Given the description of an element on the screen output the (x, y) to click on. 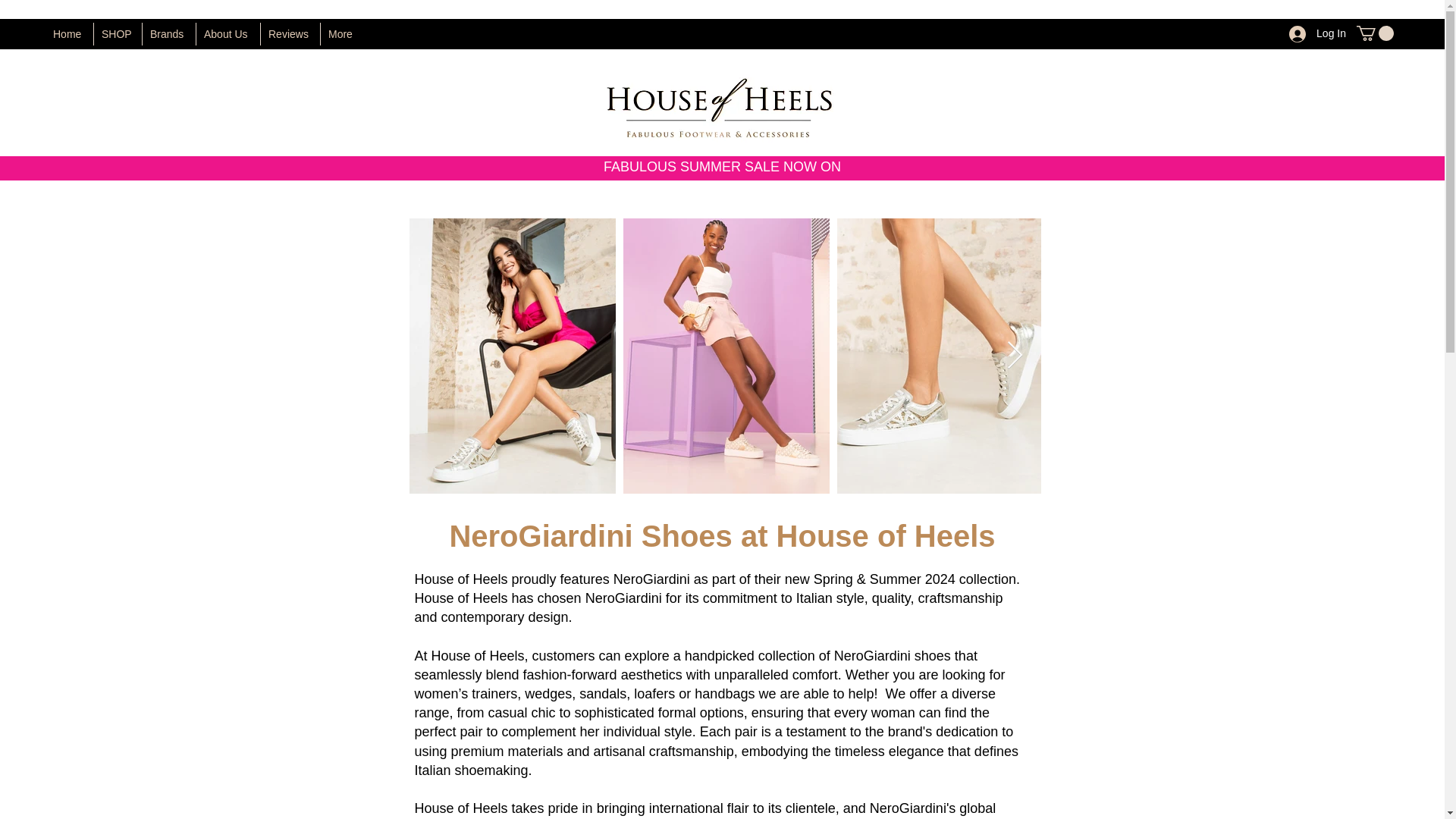
Log In (1317, 33)
About Us (227, 33)
Home (69, 33)
Reviews (290, 33)
Brands (168, 33)
House of Heels shoe boutique for women logo (719, 108)
FABULOUS SUMMER SALE NOW ON (722, 166)
SHOP (117, 33)
